Given the description of an element on the screen output the (x, y) to click on. 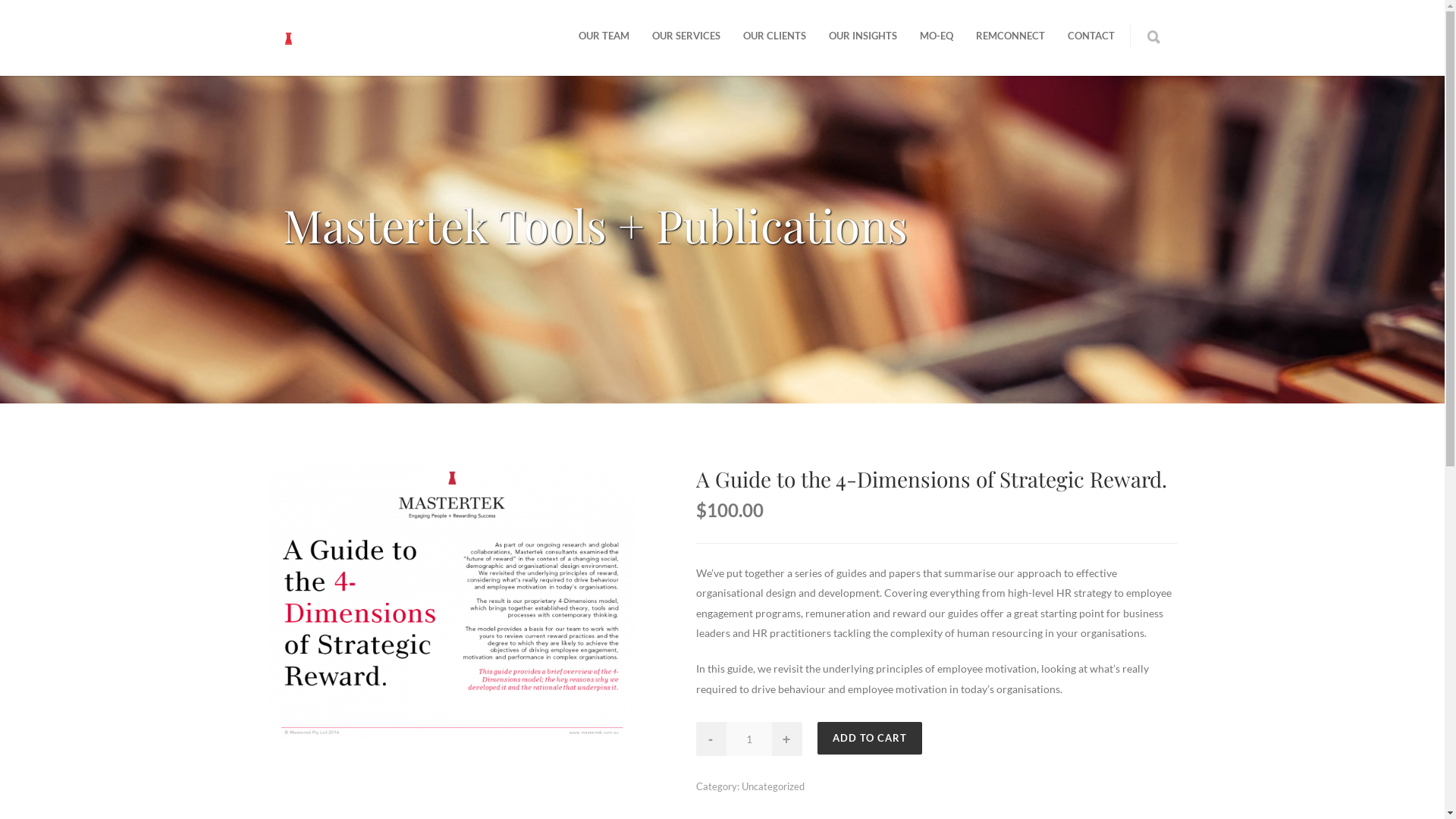
OUR TEAM Element type: text (603, 35)
A Guide to the 4-Dimensions of Reward Element type: hover (450, 602)
+ Element type: text (786, 738)
OUR CLIENTS Element type: text (773, 35)
Uncategorized Element type: text (772, 786)
CONTACT Element type: text (1090, 35)
Qty Element type: hover (748, 738)
OUR INSIGHTS Element type: text (862, 35)
MO-EQ Element type: text (936, 35)
REMCONNECT Element type: text (1010, 35)
ADD TO CART Element type: text (869, 737)
- Element type: text (711, 738)
OUR SERVICES Element type: text (685, 35)
